Given the description of an element on the screen output the (x, y) to click on. 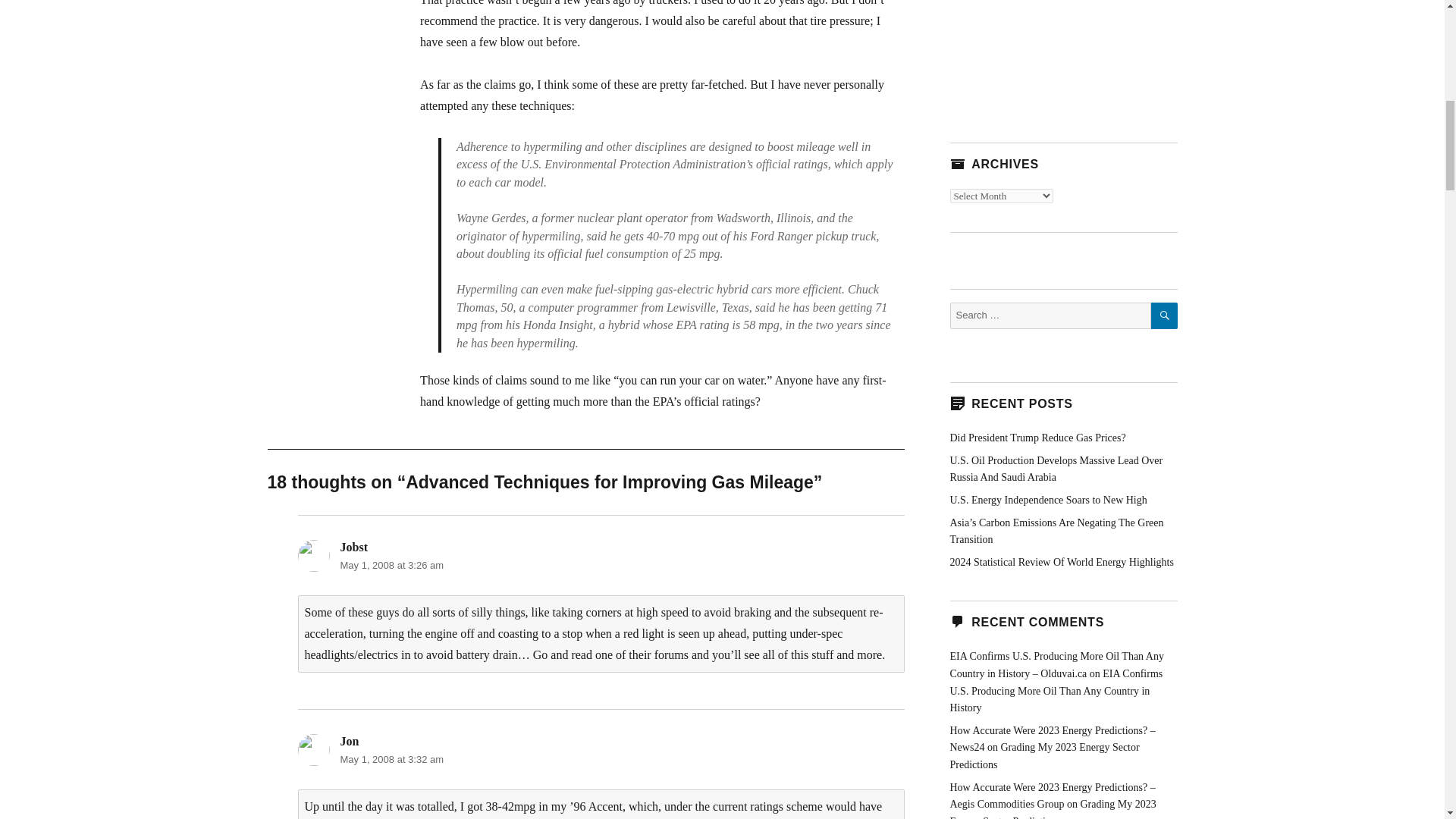
Advertisement (1062, 55)
Search for: (1049, 315)
May 1, 2008 at 3:26 am (391, 564)
May 1, 2008 at 3:32 am (391, 758)
